Given the description of an element on the screen output the (x, y) to click on. 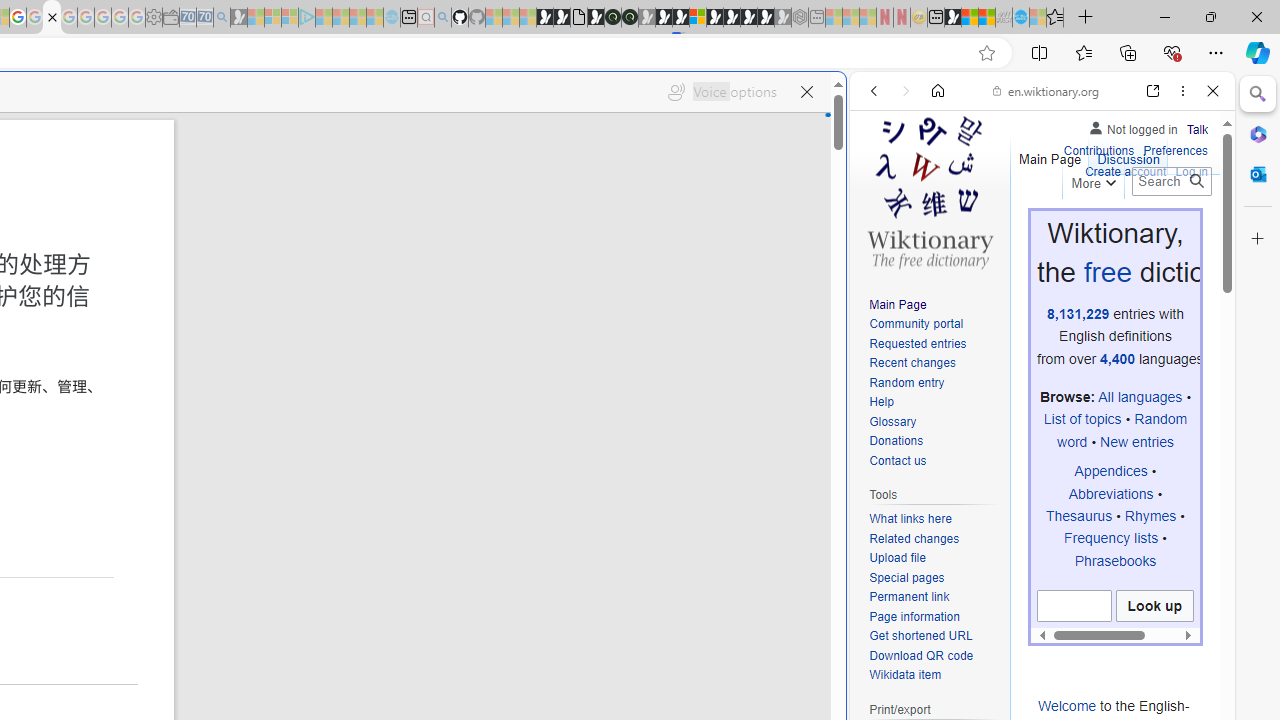
Earth has six continents not seven, radical new study claims (986, 17)
Tabs you've opened (276, 265)
Abbreviations (1110, 493)
Upload file (934, 558)
Bing Real Estate - Home sales and rental listings - Sleeping (221, 17)
Get shortened URL (934, 637)
github - Search - Sleeping (442, 17)
Navy Quest (1003, 17)
Frequently visited (418, 265)
